Given the description of an element on the screen output the (x, y) to click on. 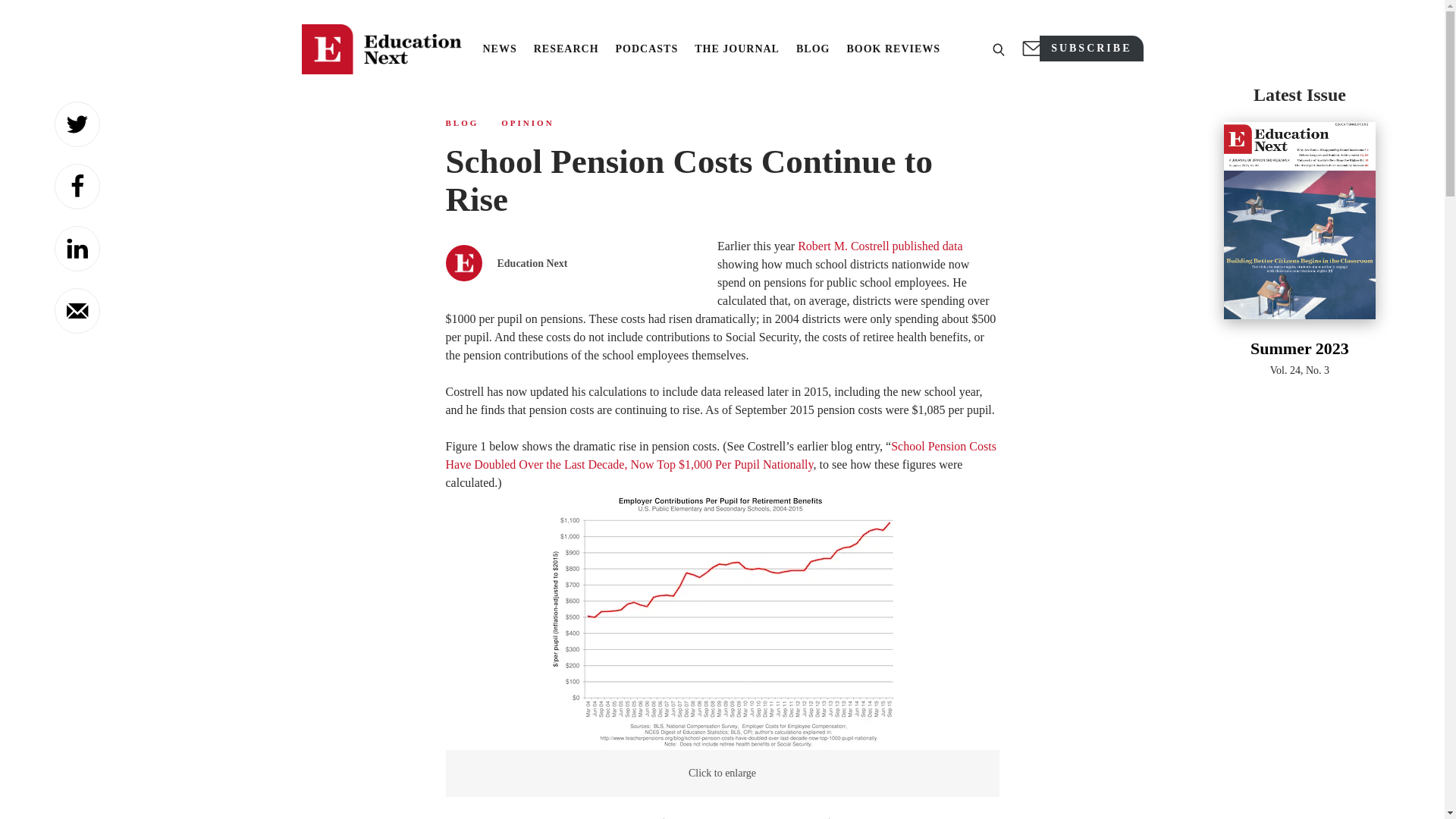
SUBSCRIBE (1090, 48)
BLOG (812, 49)
Robert M. Costrell published data (879, 245)
BOOK REVIEWS (892, 49)
Share on Facebook (77, 186)
Send over email (77, 310)
PODCASTS (646, 49)
NEWS (498, 49)
BLOG (462, 122)
THE JOURNAL (736, 49)
RESEARCH (566, 49)
Share on LinkedIn (77, 248)
Share on Twitter (77, 124)
OPINION (526, 122)
